Given the description of an element on the screen output the (x, y) to click on. 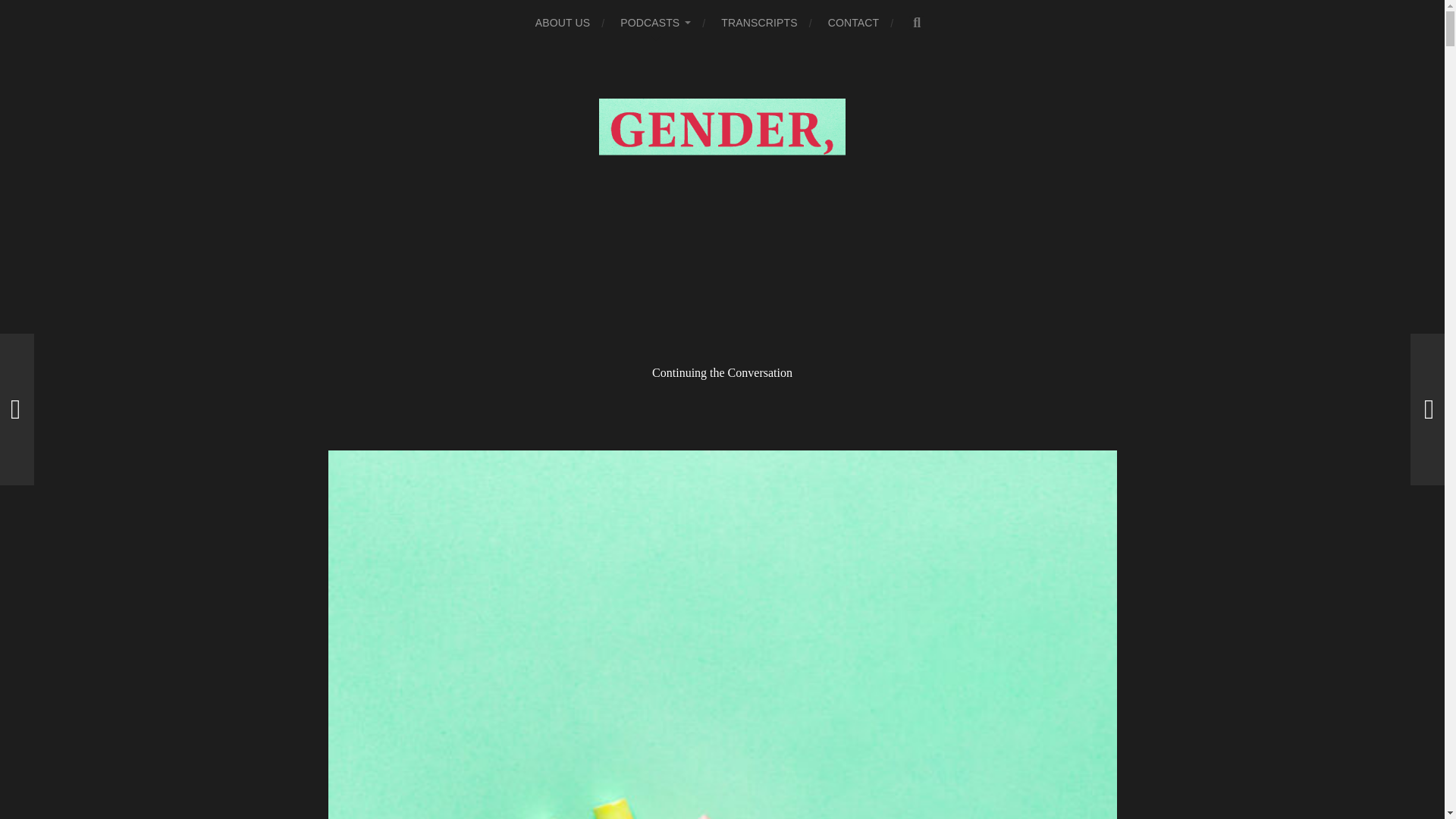
PODCASTS (655, 22)
TRANSCRIPTS (758, 22)
CONTACT (853, 22)
ABOUT US (562, 22)
